Given the description of an element on the screen output the (x, y) to click on. 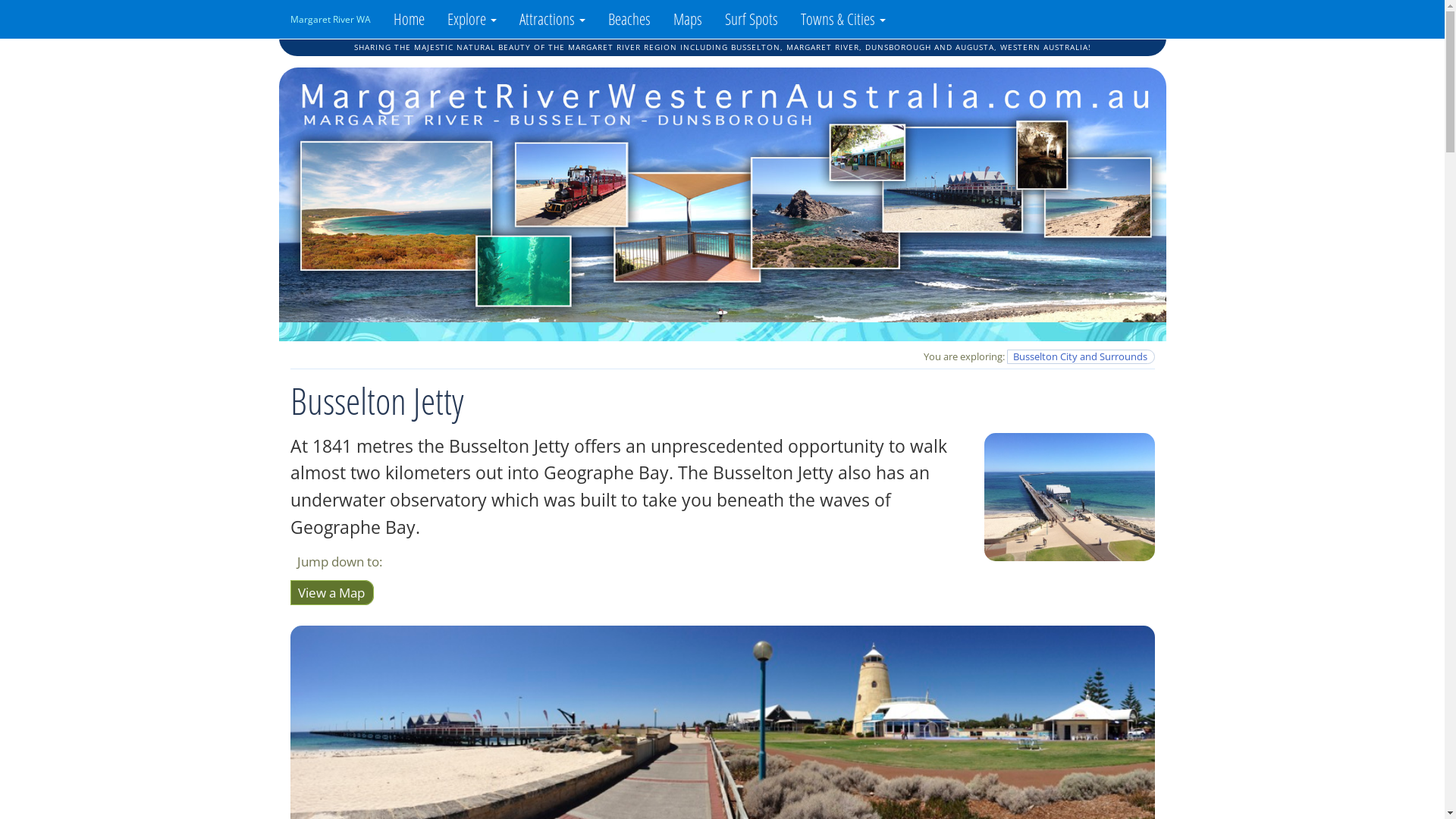
Explore Element type: text (471, 18)
Home Element type: text (409, 18)
View a Map Element type: text (331, 592)
Towns & Cities Element type: text (842, 18)
Maps Element type: text (686, 18)
Surf Spots Element type: text (750, 18)
Beaches Element type: text (628, 18)
Margaret River WA Element type: text (330, 19)
Busselton City and Surrounds Element type: text (1080, 356)
Attractions Element type: text (552, 18)
